Given the description of an element on the screen output the (x, y) to click on. 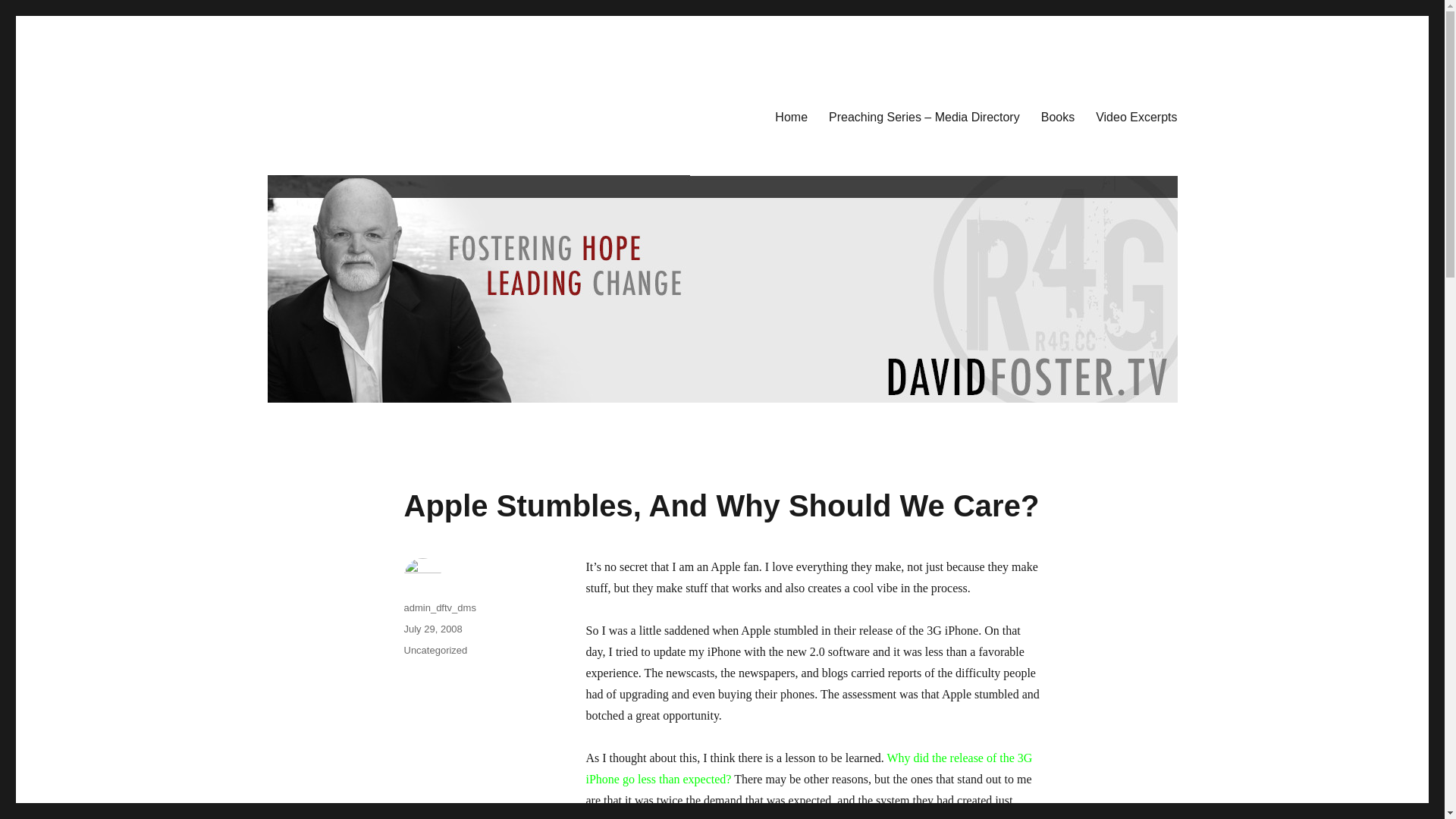
David Foster (331, 114)
July 29, 2008 (432, 628)
Books (1057, 116)
Video Excerpts (1136, 116)
Home (791, 116)
